Given the description of an element on the screen output the (x, y) to click on. 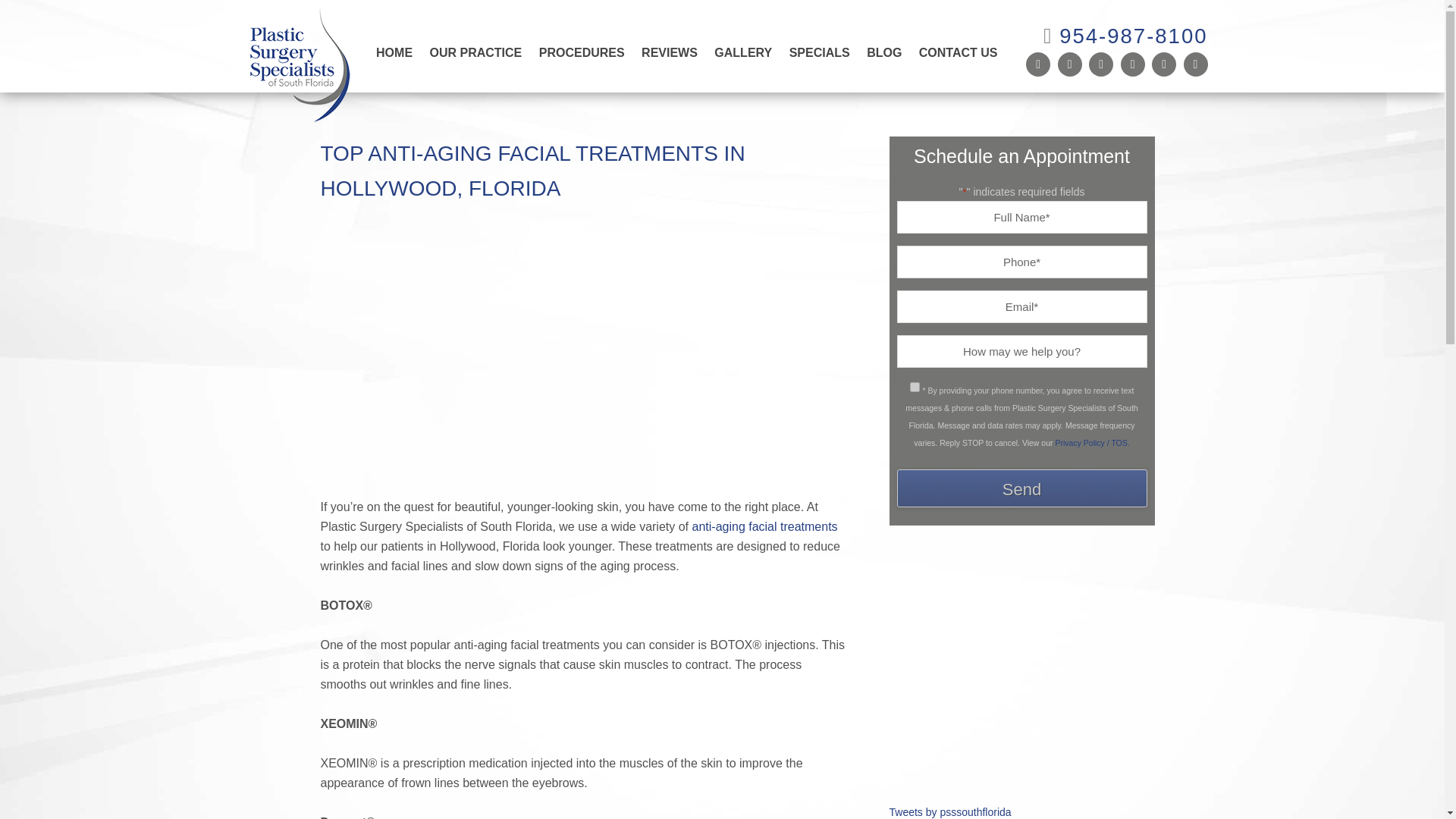
REVIEWS (669, 51)
SPECIALS (819, 51)
1 (915, 387)
GALLERY (743, 51)
Privacy Policy (1091, 442)
CONTACT US (958, 51)
BLOG (884, 51)
Top Anti-Aging Facial Treatments in Hollywood, Florida (580, 486)
HOME (394, 51)
Send (1021, 487)
